Given the description of an element on the screen output the (x, y) to click on. 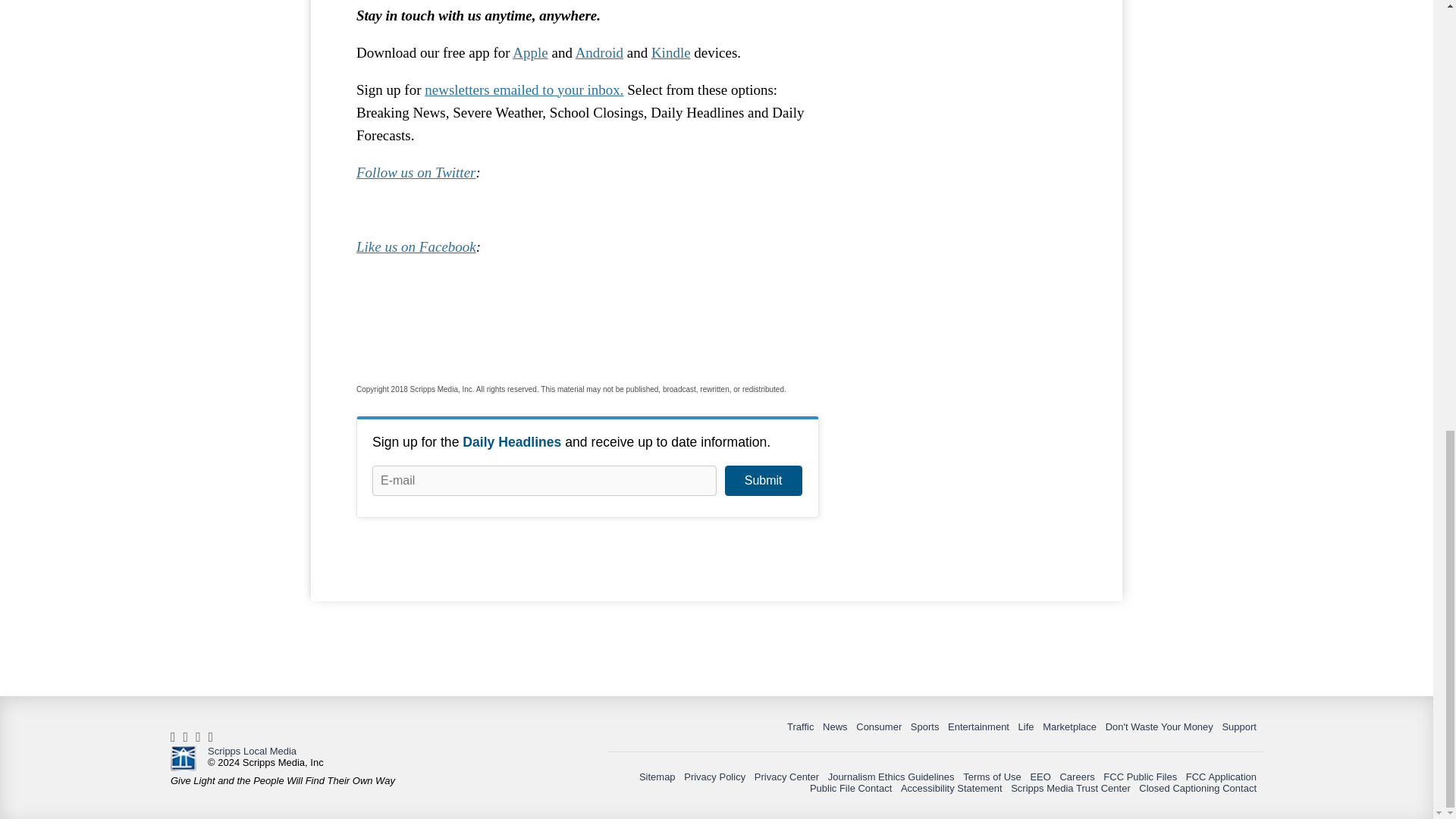
Submit (763, 481)
